Given the description of an element on the screen output the (x, y) to click on. 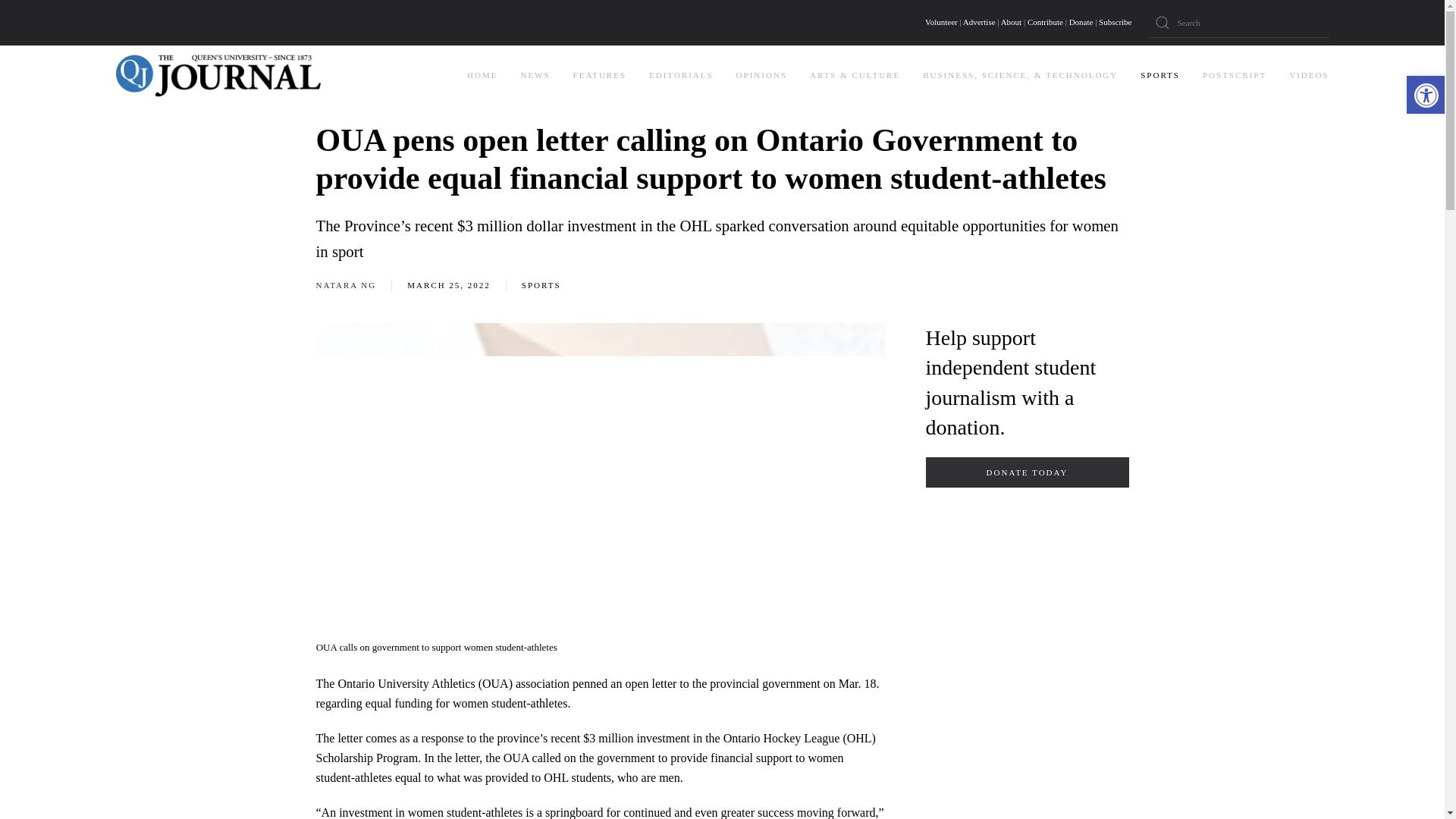
Contribute (1044, 21)
Subscribe (1115, 21)
About (1011, 21)
Donate (1080, 21)
Accessibility Tools (1425, 95)
Advertise (978, 21)
Volunteer (941, 21)
